Given the description of an element on the screen output the (x, y) to click on. 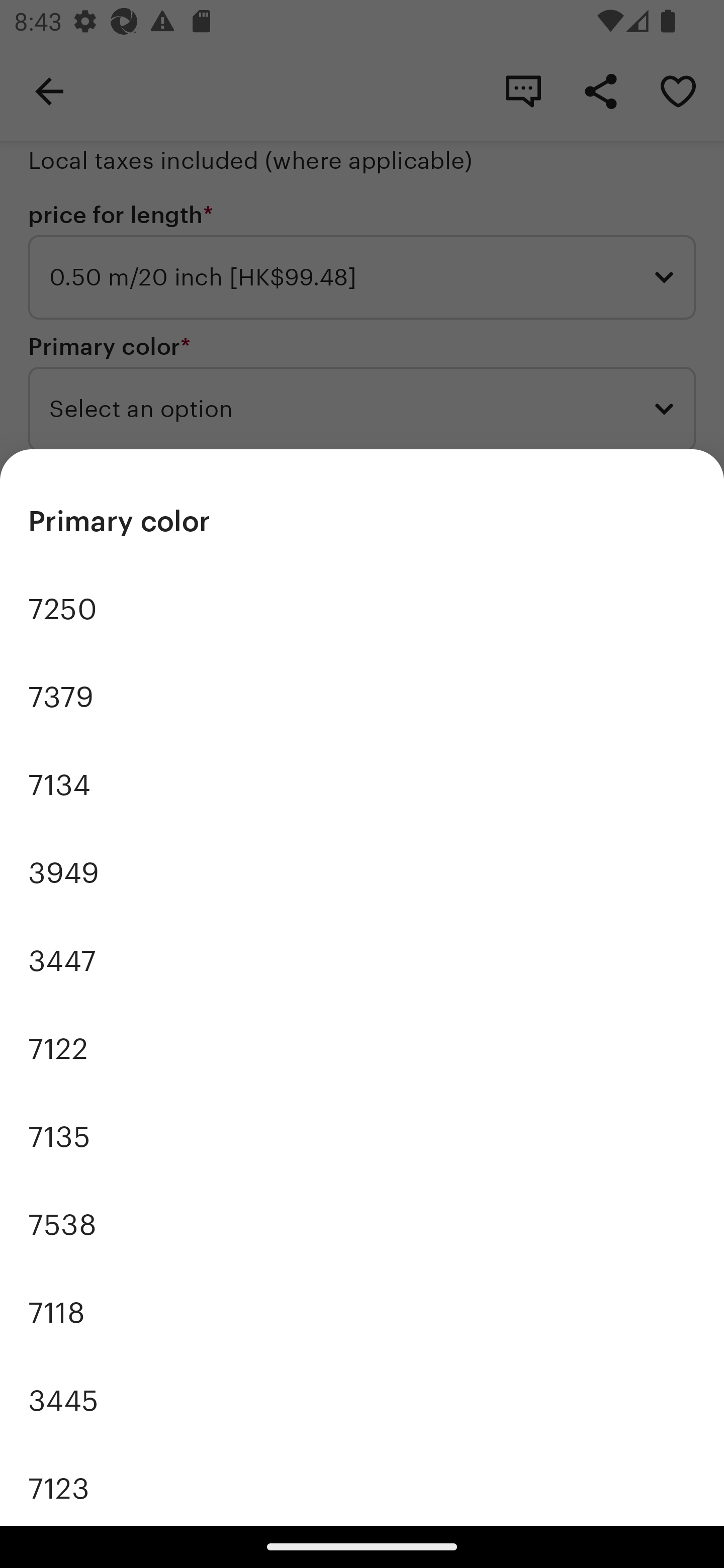
7250 (362, 609)
7379 (362, 697)
7134 (362, 785)
3949 (362, 873)
3447 (362, 961)
7122 (362, 1048)
7135 (362, 1136)
7538 (362, 1224)
7118 (362, 1312)
3445 (362, 1400)
7123 (362, 1484)
